Given the description of an element on the screen output the (x, y) to click on. 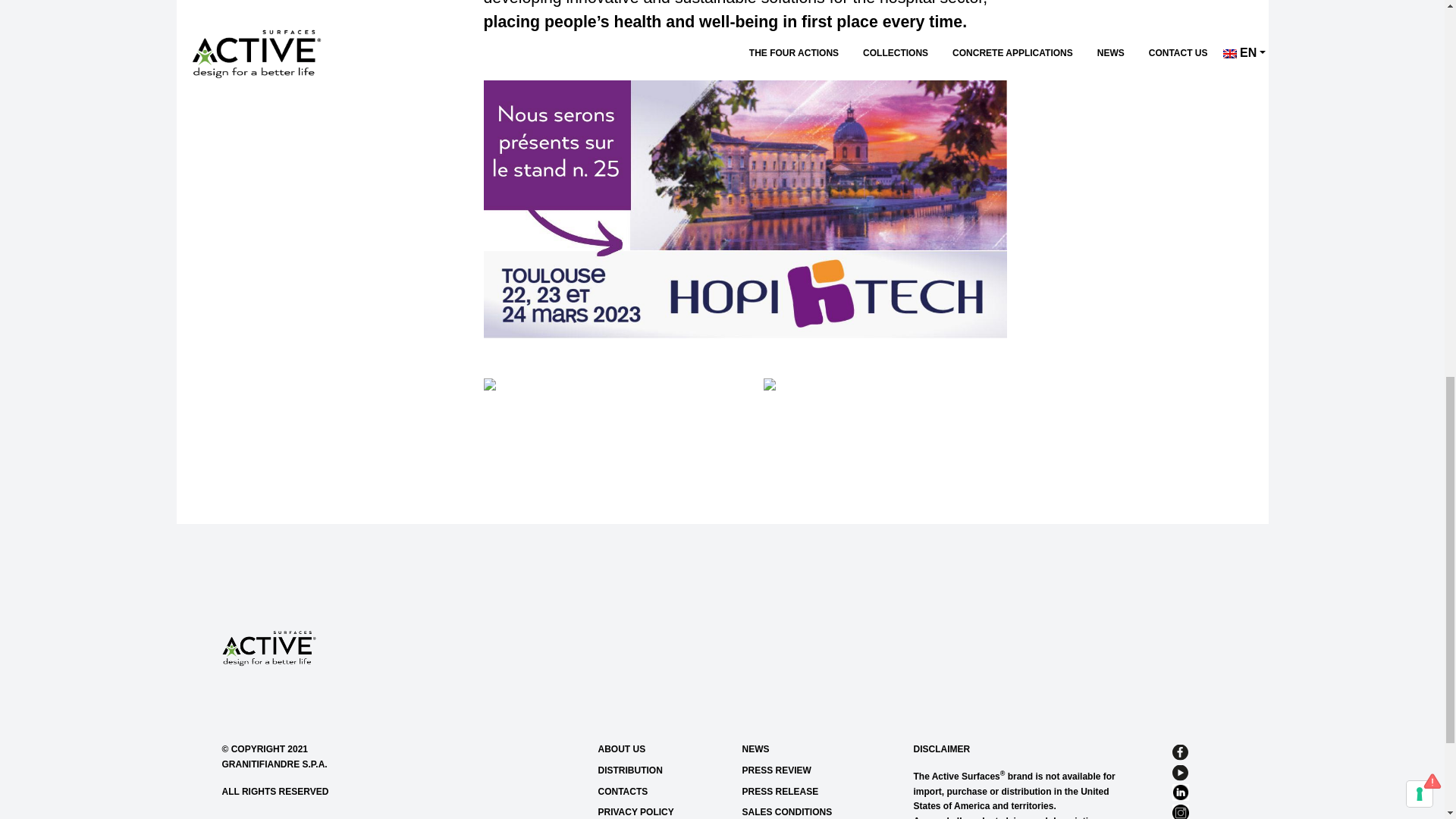
Privacy Policy (664, 812)
ABOUT US (664, 749)
PRIVACY POLICY (664, 812)
PRESS REVIEW (808, 770)
CONTACTS (664, 791)
Contacts (664, 791)
ABOUT US (664, 749)
Active Surfaces (268, 646)
Press Review (808, 770)
Distribution (664, 770)
News (808, 749)
PRESS RELEASE (808, 791)
Press Release (808, 791)
NEWS (808, 749)
DISTRIBUTION (664, 770)
